Given the description of an element on the screen output the (x, y) to click on. 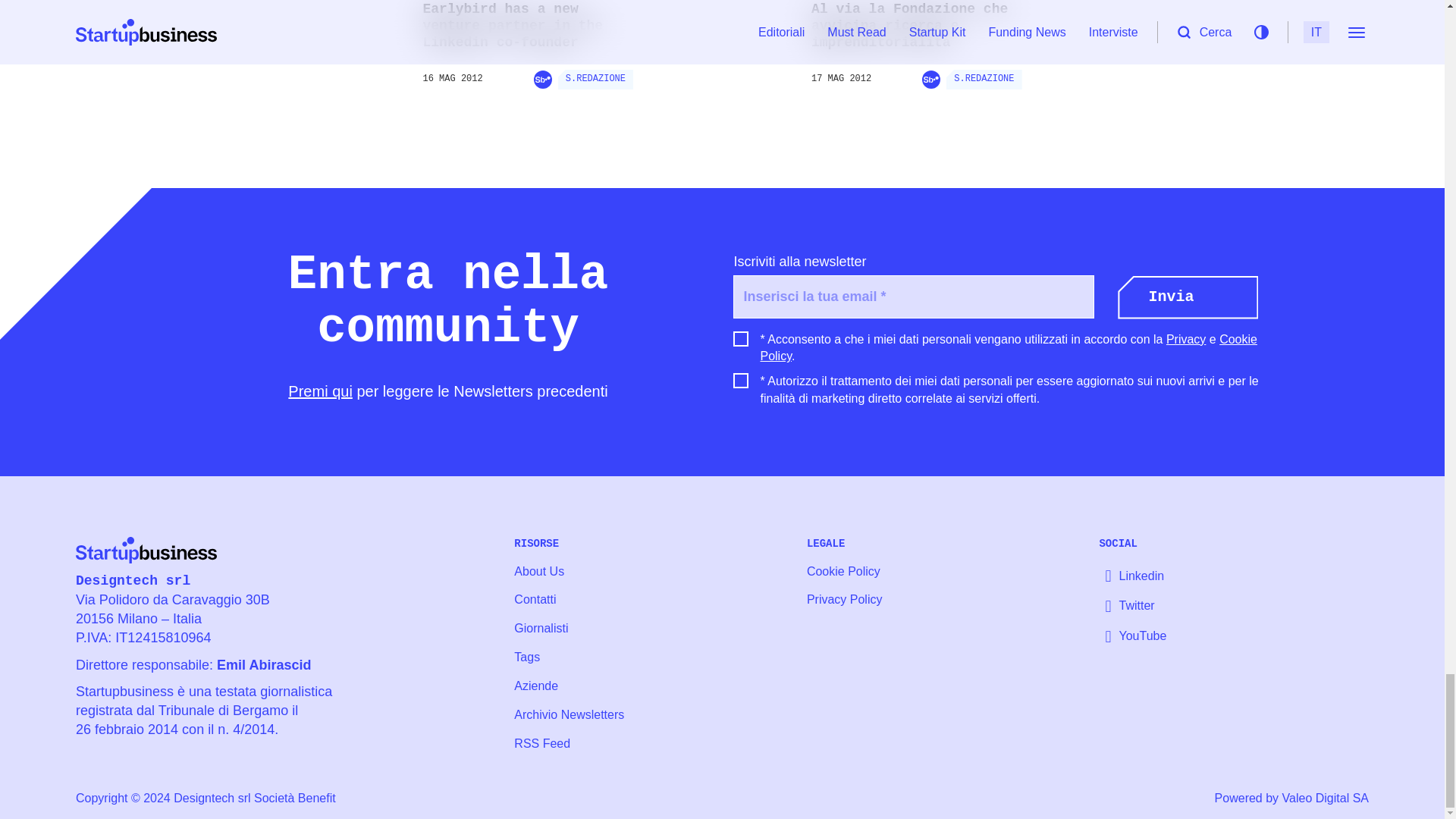
S.REDAZIONE (592, 78)
Invia (1187, 297)
